Given the description of an element on the screen output the (x, y) to click on. 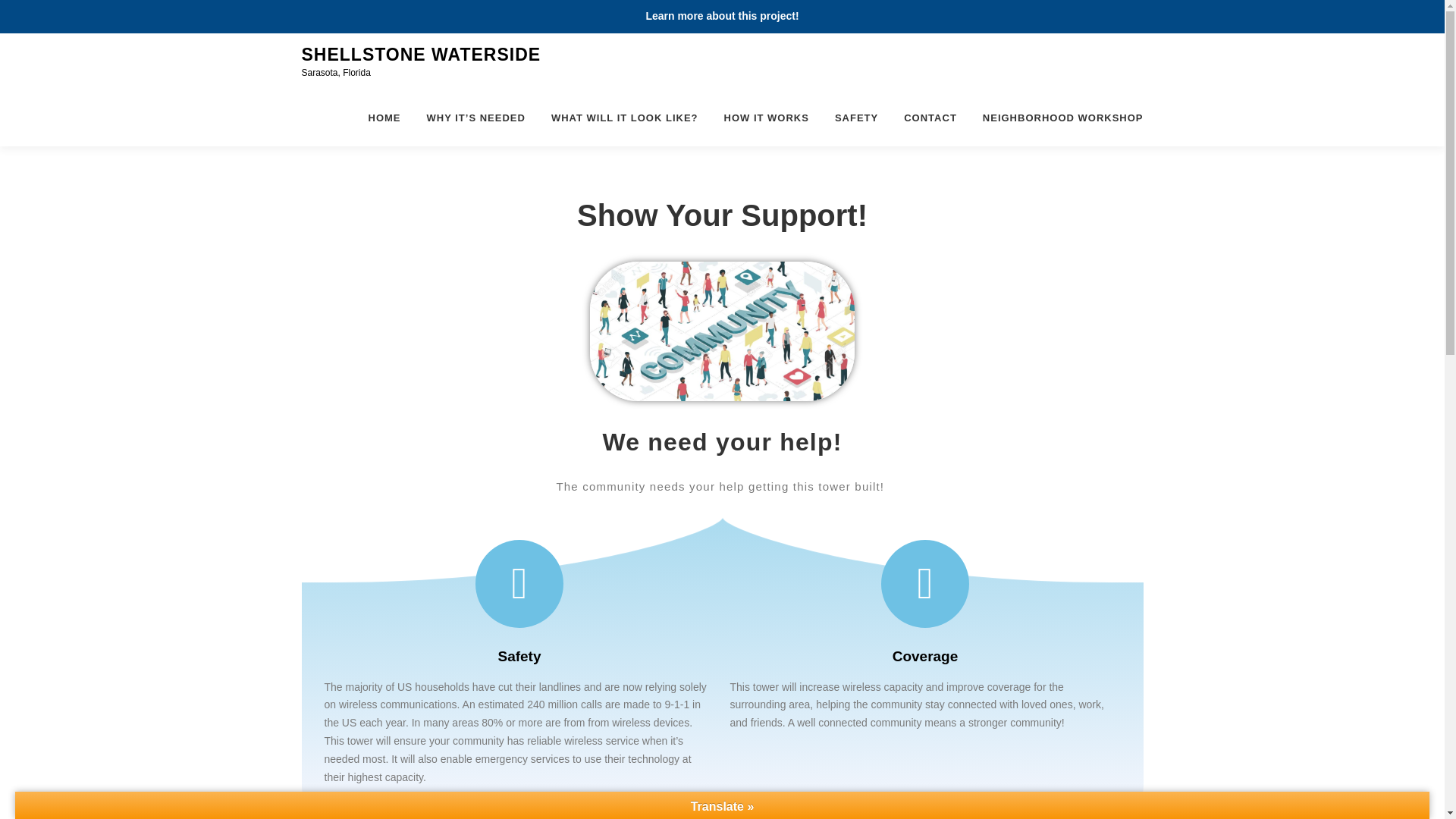
Learn more about this project! (721, 15)
SHELLSTONE WATERSIDE (421, 55)
HOME (384, 117)
SAFETY (856, 117)
CONTACT (930, 117)
NEIGHBORHOOD WORKSHOP (1055, 117)
HOW IT WORKS (766, 117)
WHAT WILL IT LOOK LIKE? (624, 117)
